Given the description of an element on the screen output the (x, y) to click on. 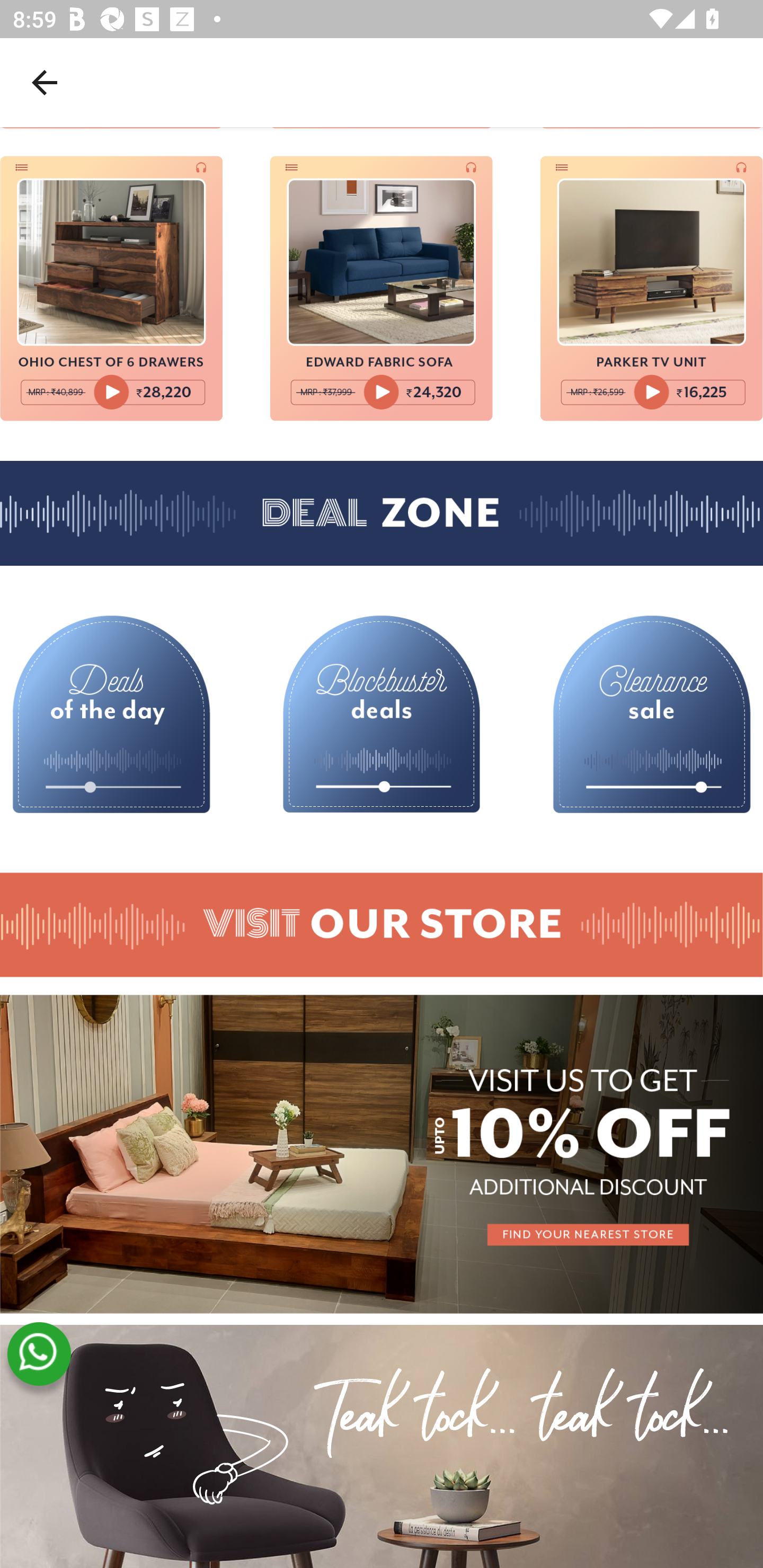
Navigate up (44, 82)
